Given the description of an element on the screen output the (x, y) to click on. 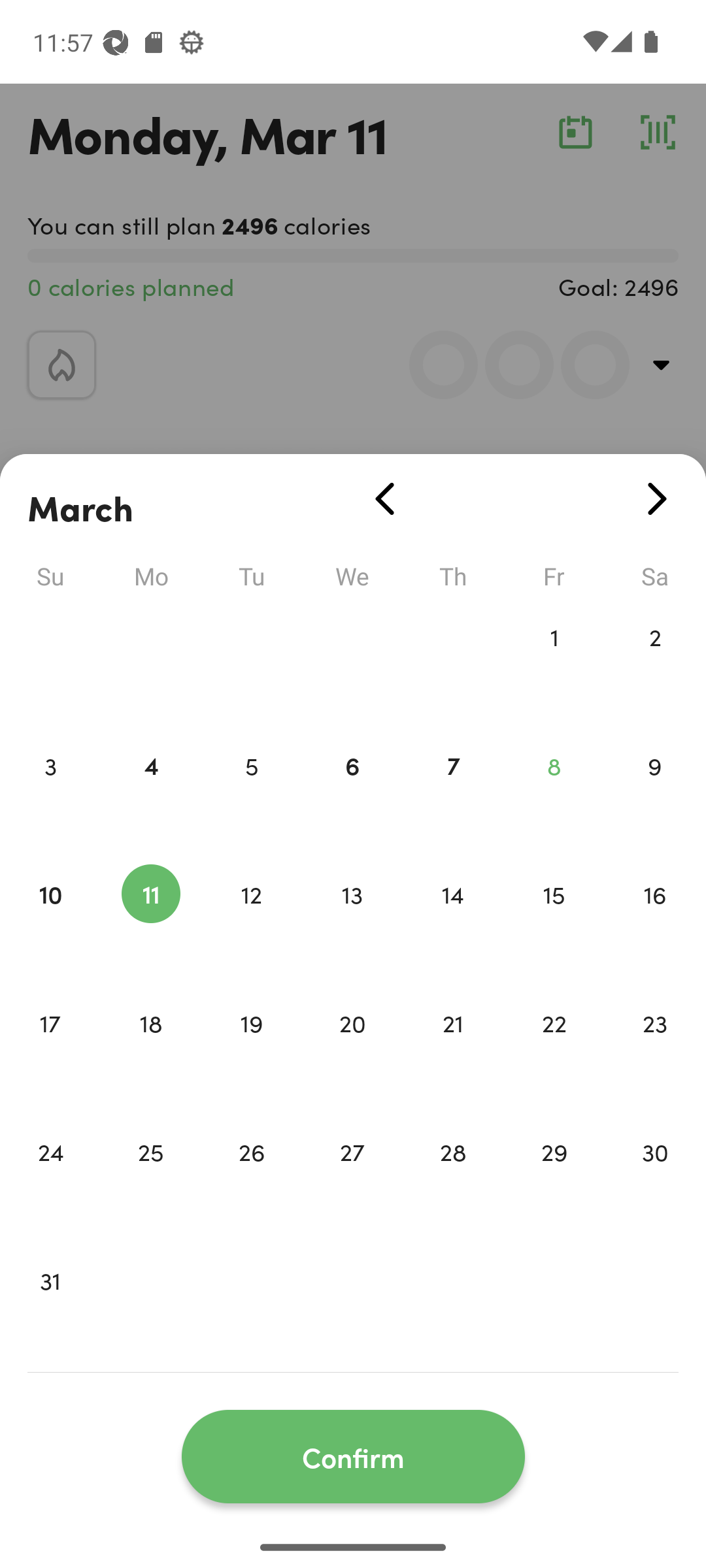
1 (554, 663)
2 (655, 663)
3 (50, 793)
4 (150, 793)
5 (251, 793)
6 (352, 793)
7 (453, 793)
8 (554, 793)
9 (655, 793)
10 (50, 921)
11 (150, 921)
12 (251, 921)
13 (352, 921)
14 (453, 921)
15 (554, 921)
16 (655, 921)
17 (50, 1050)
18 (150, 1050)
19 (251, 1050)
20 (352, 1050)
21 (453, 1050)
22 (554, 1050)
23 (655, 1050)
24 (50, 1178)
25 (150, 1178)
26 (251, 1178)
27 (352, 1178)
28 (453, 1178)
29 (554, 1178)
30 (655, 1178)
31 (50, 1307)
Confirm (353, 1456)
